Given the description of an element on the screen output the (x, y) to click on. 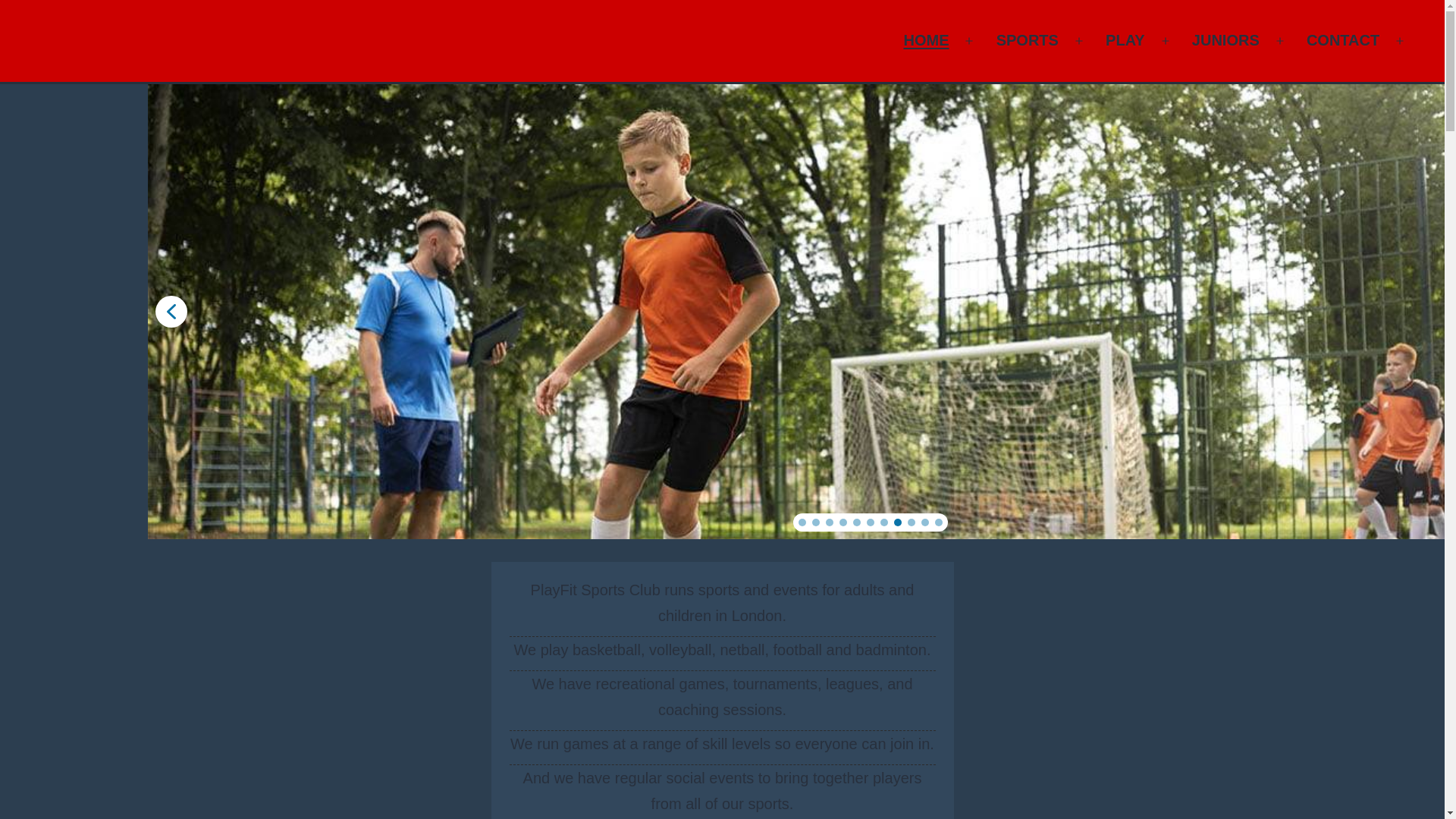
Whatsapp message (1125, 383)
CONTACT (1343, 40)
SPORTS (1026, 40)
JUNIORS (1225, 40)
HOME (925, 40)
PLAY (1125, 40)
